Given the description of an element on the screen output the (x, y) to click on. 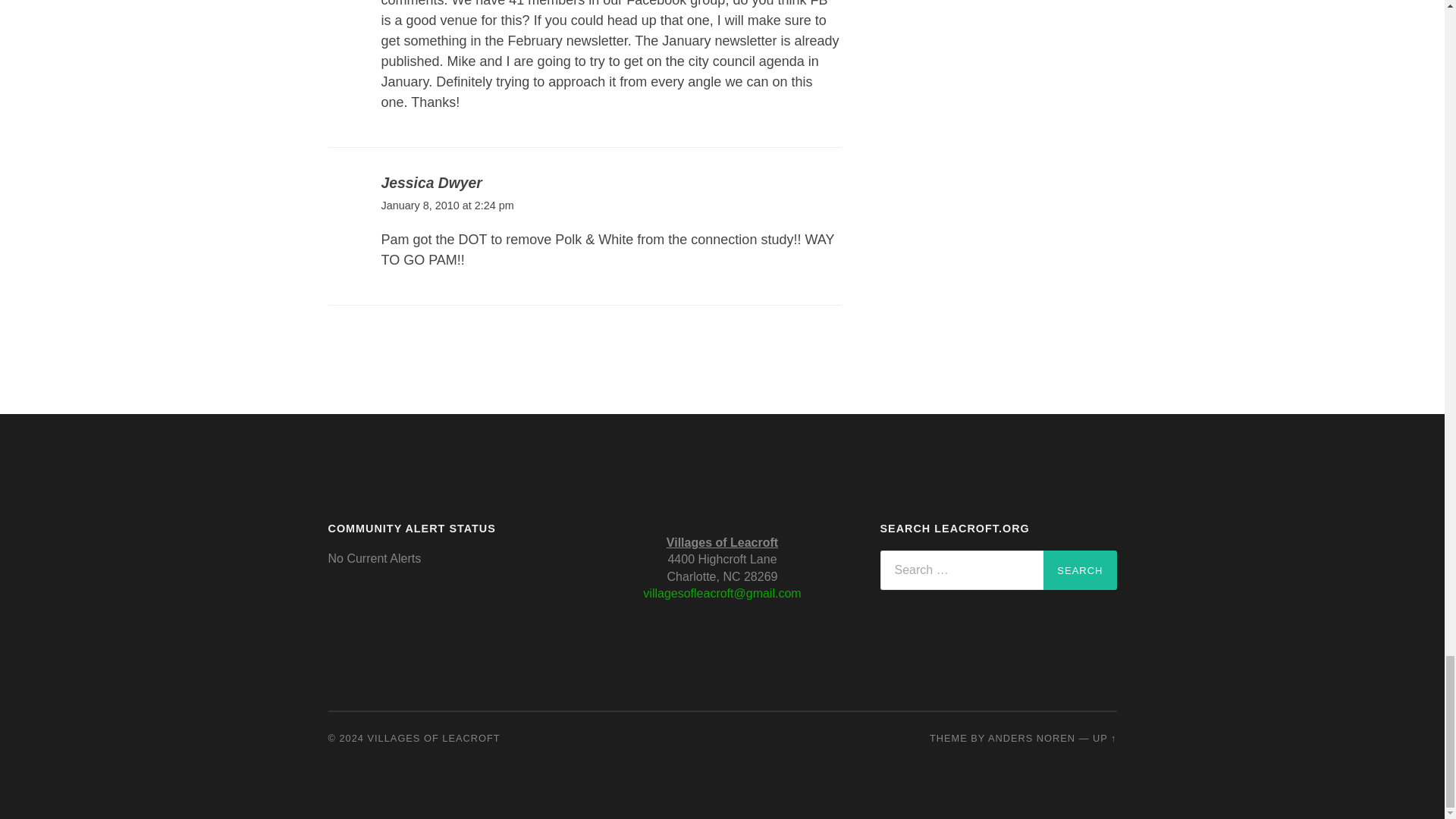
January 8, 2010 at 2:24 pm (446, 205)
Search (1079, 569)
To the top (1104, 737)
Search (1079, 569)
